Given the description of an element on the screen output the (x, y) to click on. 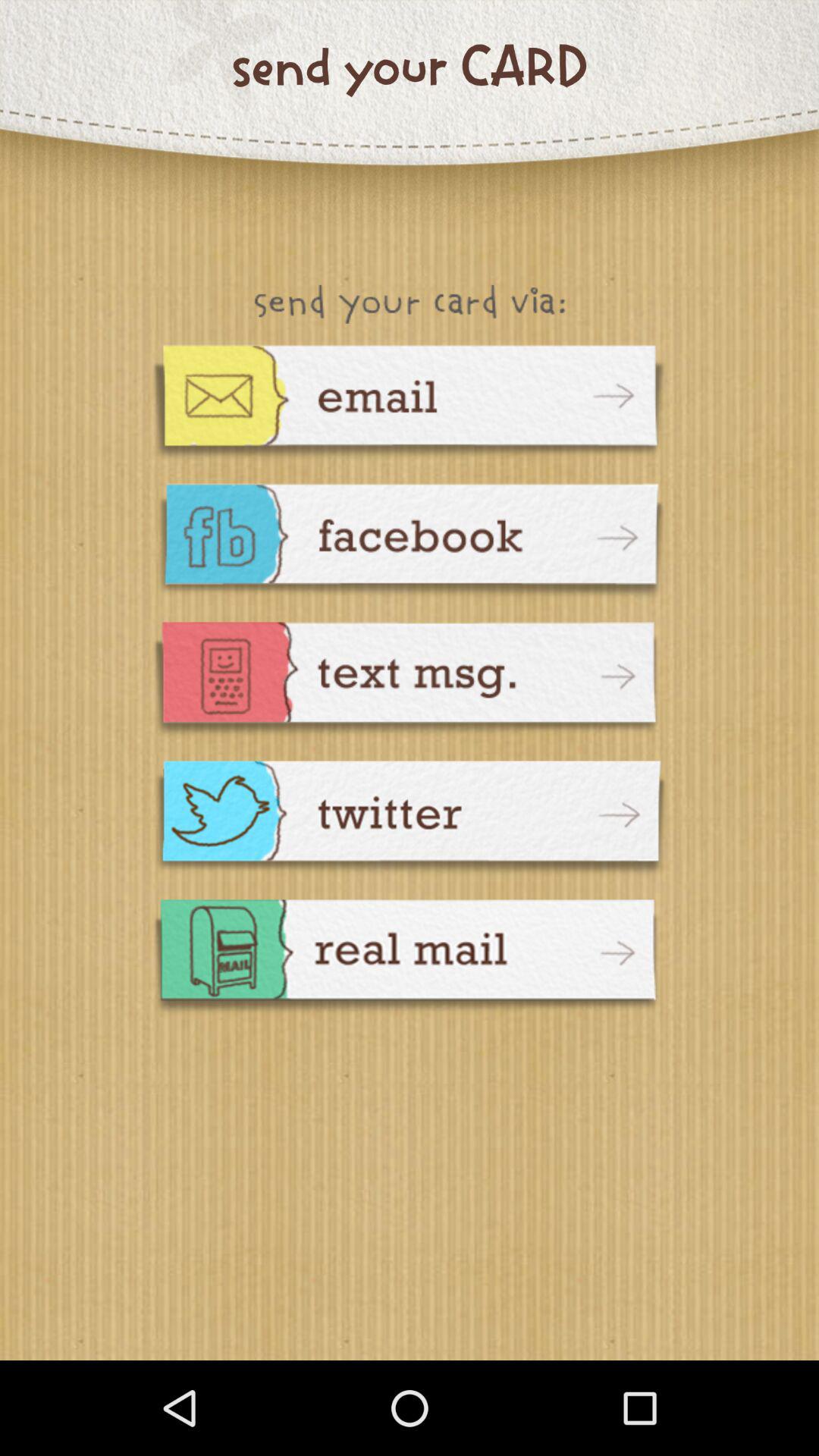
send card by text message (409, 680)
